Given the description of an element on the screen output the (x, y) to click on. 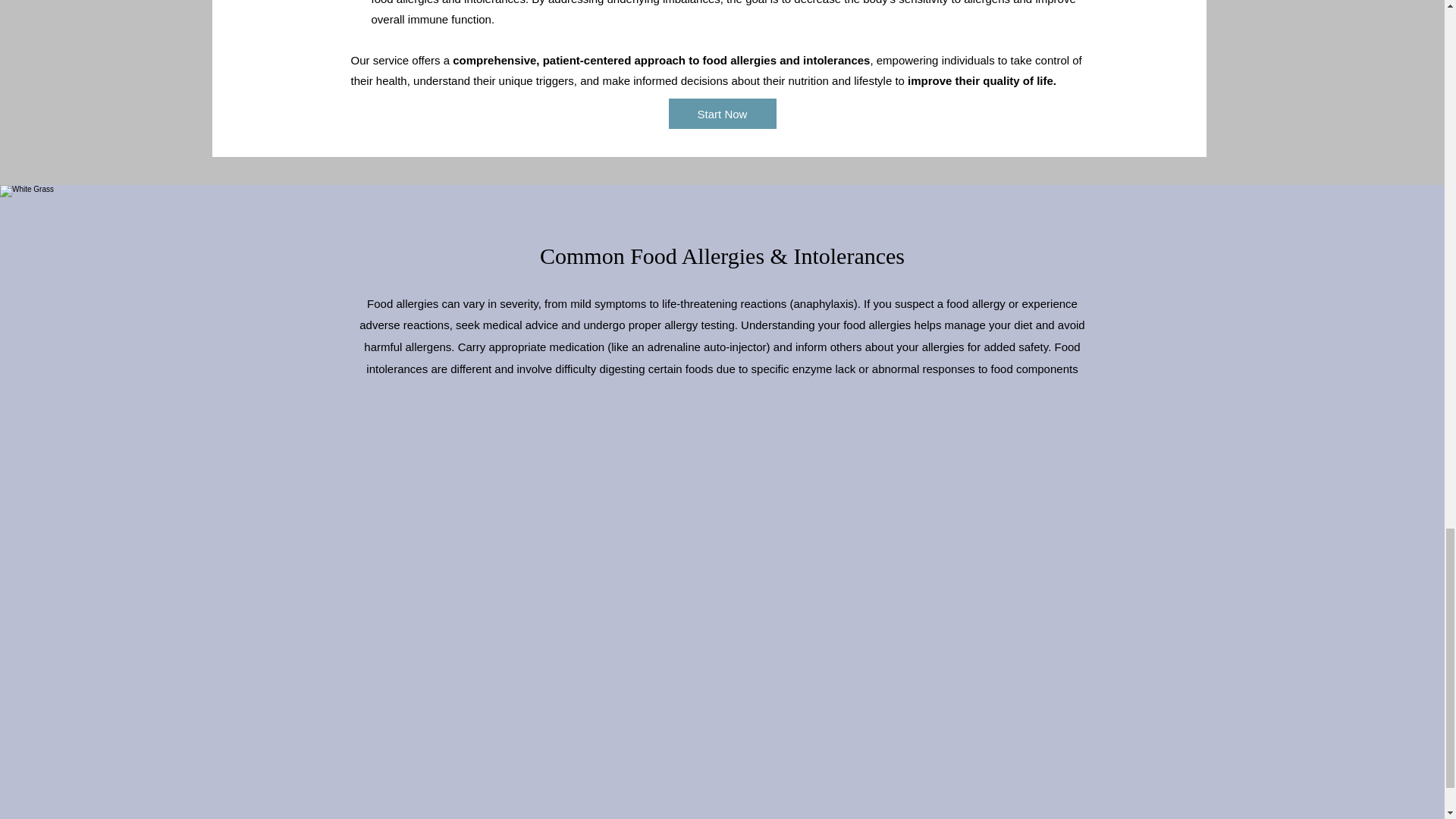
Start Now (722, 113)
